Given the description of an element on the screen output the (x, y) to click on. 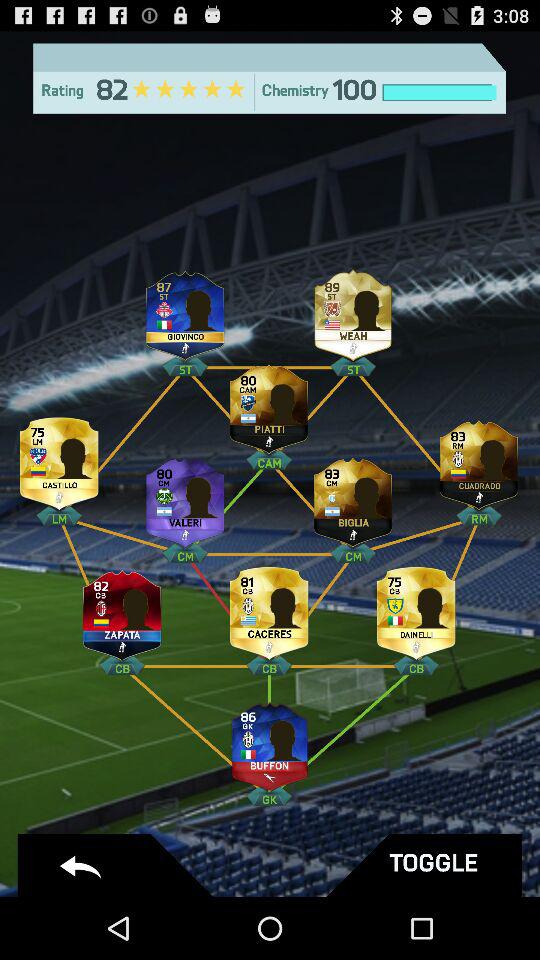
click the image (269, 740)
